Given the description of an element on the screen output the (x, y) to click on. 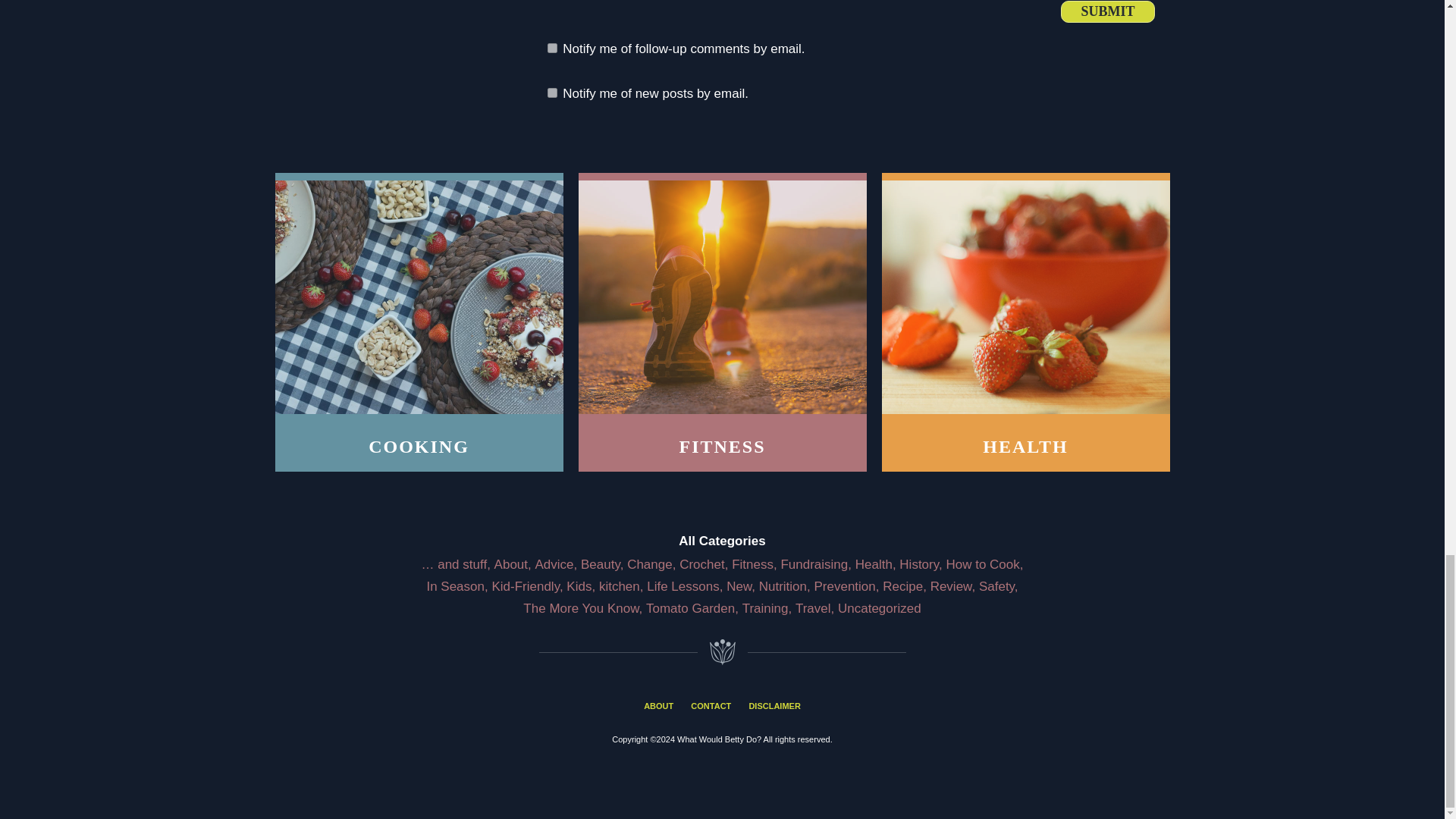
HEALTH (1024, 321)
Change (649, 564)
COOKING (418, 321)
Fitness (752, 564)
Advice (554, 564)
Fundraising (813, 564)
Submit (1107, 11)
Submit (1107, 11)
Health (874, 564)
subscribe (552, 48)
Beauty (600, 564)
subscribe (552, 92)
Crochet (702, 564)
About (511, 564)
FITNESS (722, 321)
